Given the description of an element on the screen output the (x, y) to click on. 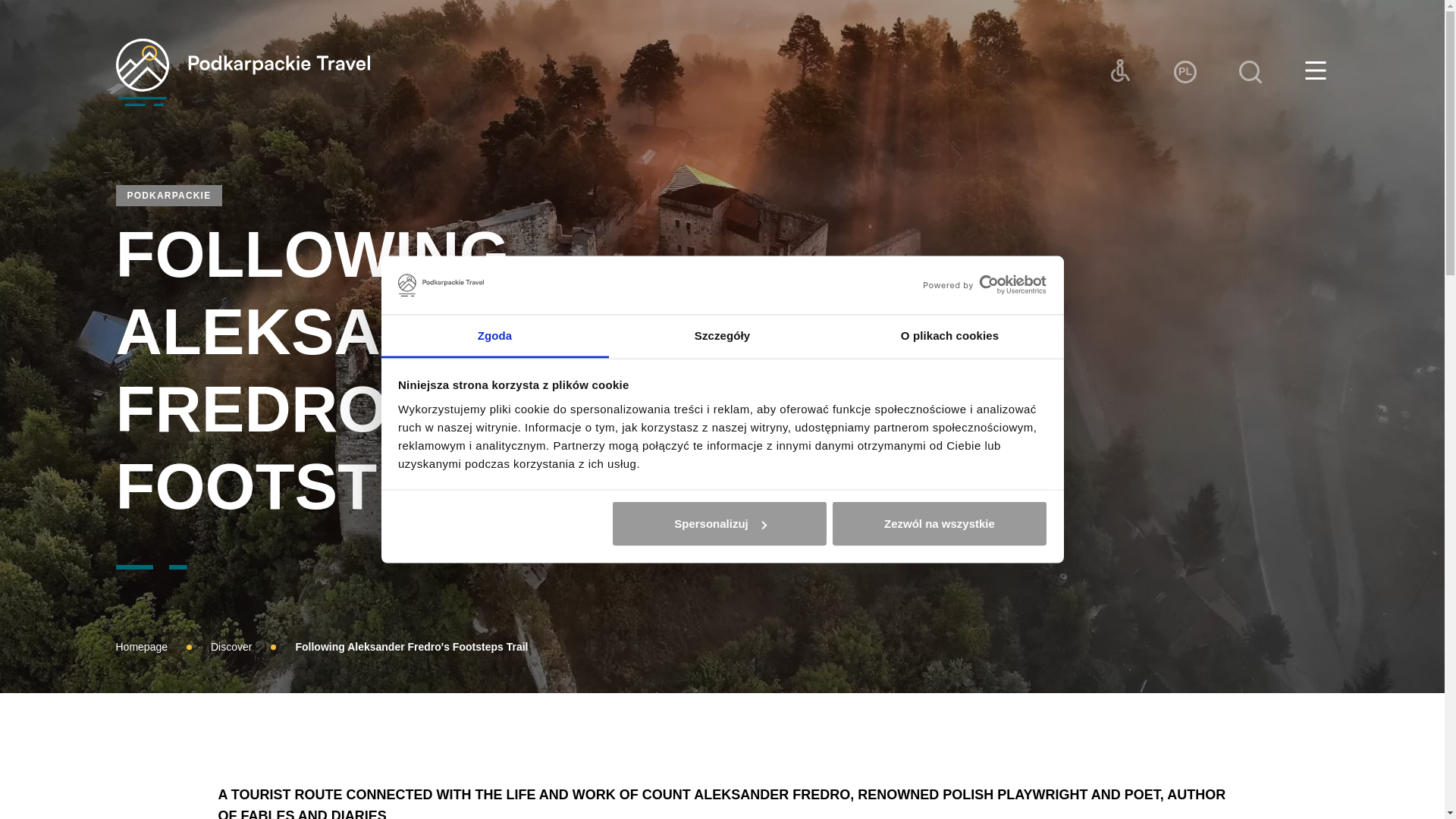
Zgoda (494, 335)
O plikach cookies (948, 335)
Spersonalizuj (719, 524)
